Given the description of an element on the screen output the (x, y) to click on. 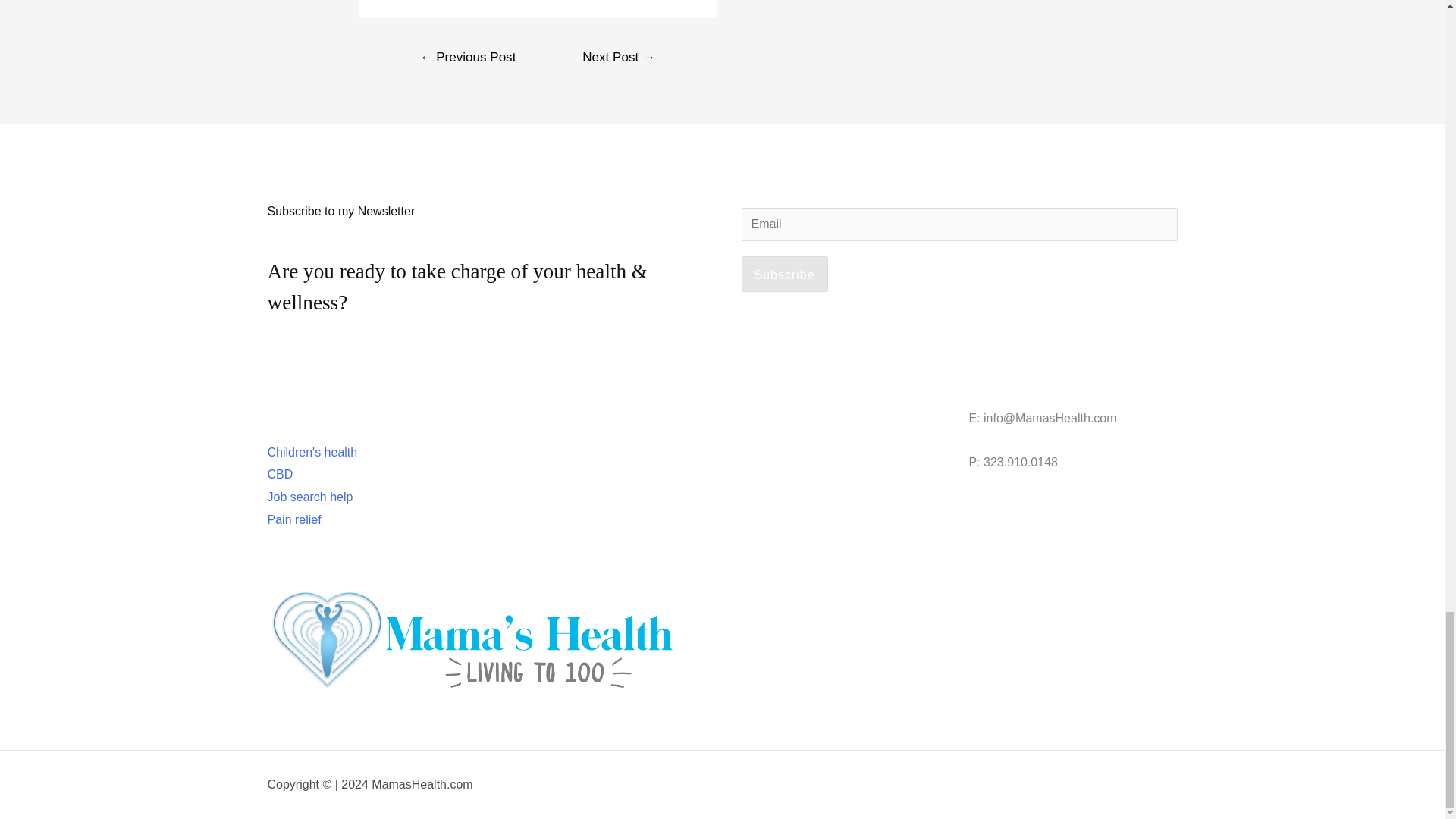
Job search help (309, 496)
Subscribe (784, 274)
Pain relief (293, 519)
Children's health (311, 451)
CBD (279, 473)
